Given the description of an element on the screen output the (x, y) to click on. 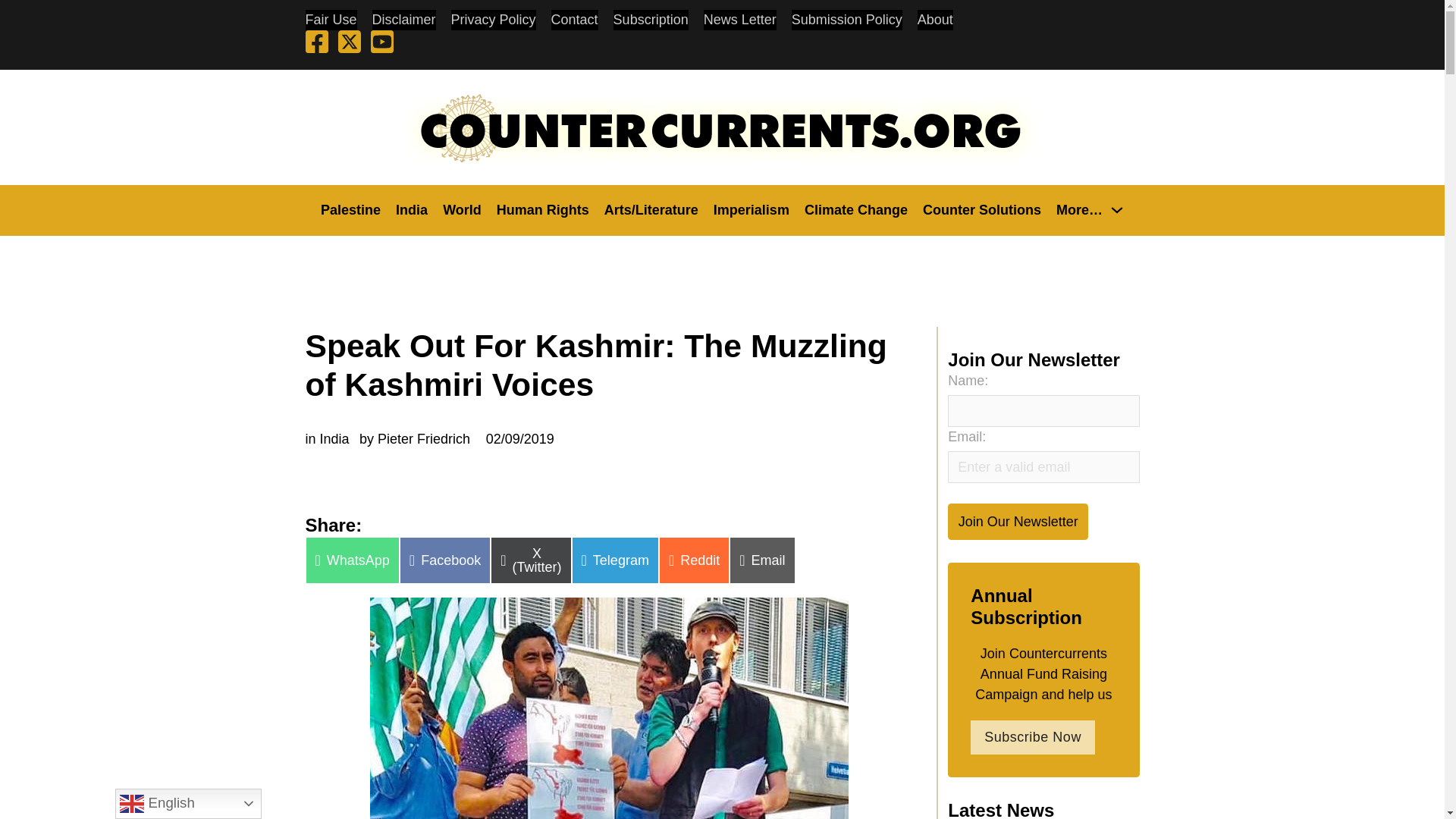
News Letter (739, 19)
World (461, 209)
Human Rights (542, 209)
Imperialism (751, 209)
Contact (574, 19)
Speak Out For Kashmir: The Muzzling of Kashmiri Voices 2 (608, 708)
Palestine (350, 209)
Counter Solutions (982, 209)
Subscription (650, 19)
Submission Policy (847, 19)
